Given the description of an element on the screen output the (x, y) to click on. 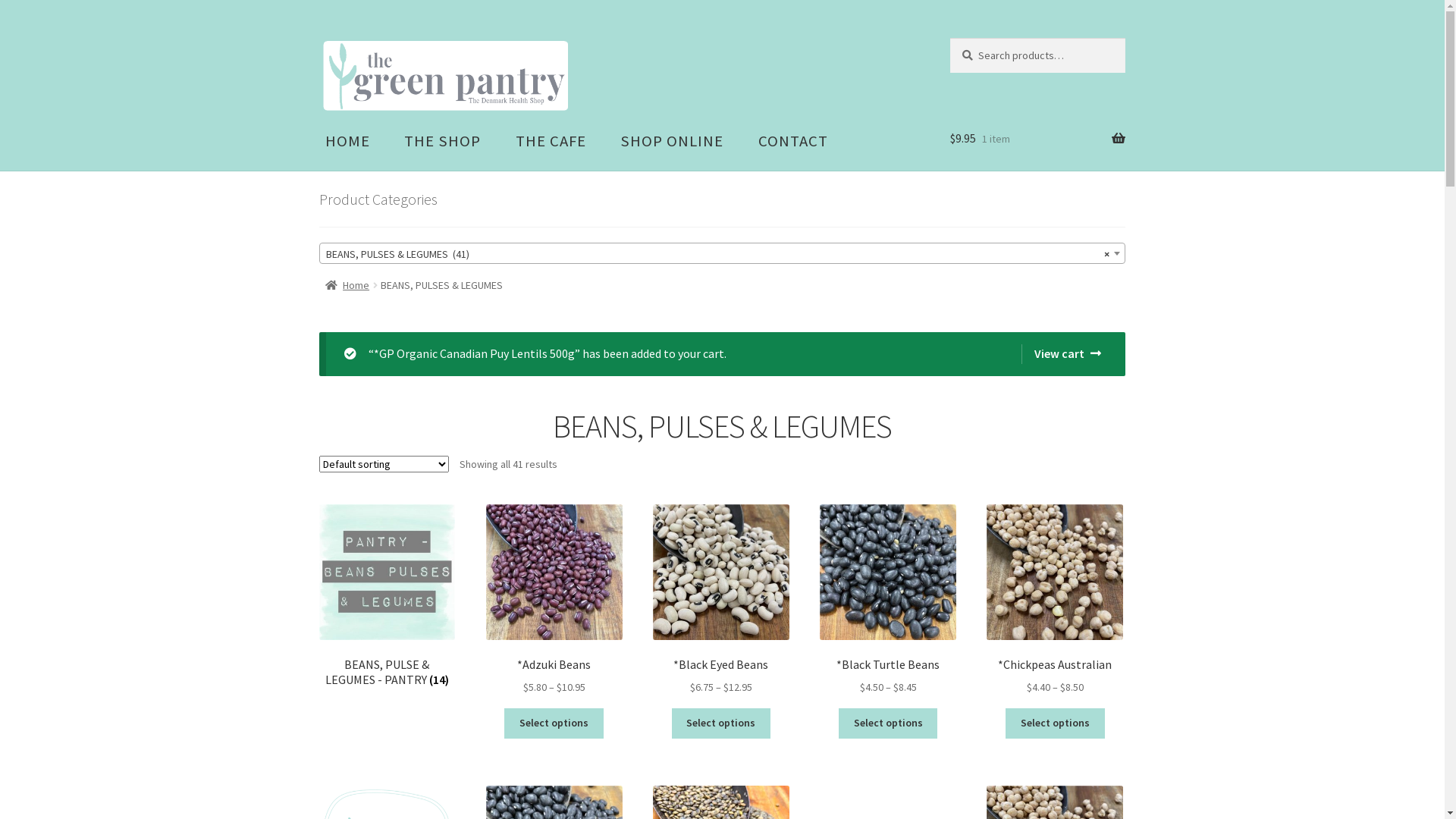
$9.95 1 item Element type: text (1037, 141)
Select options Element type: text (888, 723)
HOME Element type: text (347, 145)
View cart Element type: text (1061, 354)
THE SHOP Element type: text (442, 145)
Select options Element type: text (553, 723)
Skip to navigation Element type: text (318, 37)
Select options Element type: text (721, 723)
CONTACT Element type: text (793, 145)
Select options Element type: text (1054, 723)
Home Element type: text (347, 284)
BEANS, PULSE & LEGUMES - PANTRY (14) Element type: text (387, 595)
THE CAFE Element type: text (550, 145)
SHOP ONLINE Element type: text (672, 145)
Search Element type: text (949, 37)
